Given the description of an element on the screen output the (x, y) to click on. 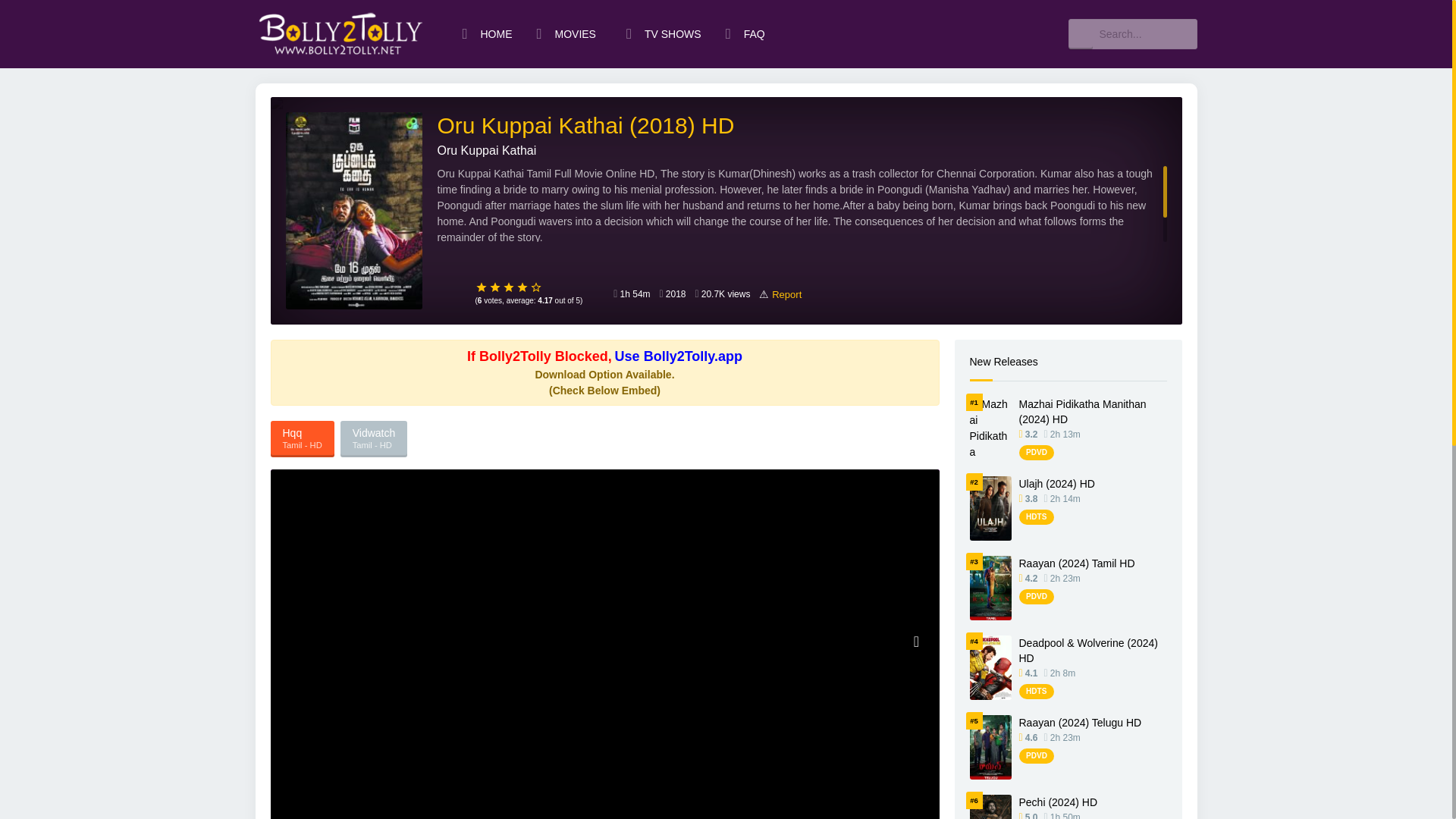
5 Stars (536, 287)
MOVIES (569, 33)
FAQ (745, 33)
HOME (486, 33)
2 Stars (494, 287)
3 Stars (508, 287)
1 Star (480, 287)
TV SHOWS (663, 33)
4 Stars (522, 287)
